Given the description of an element on the screen output the (x, y) to click on. 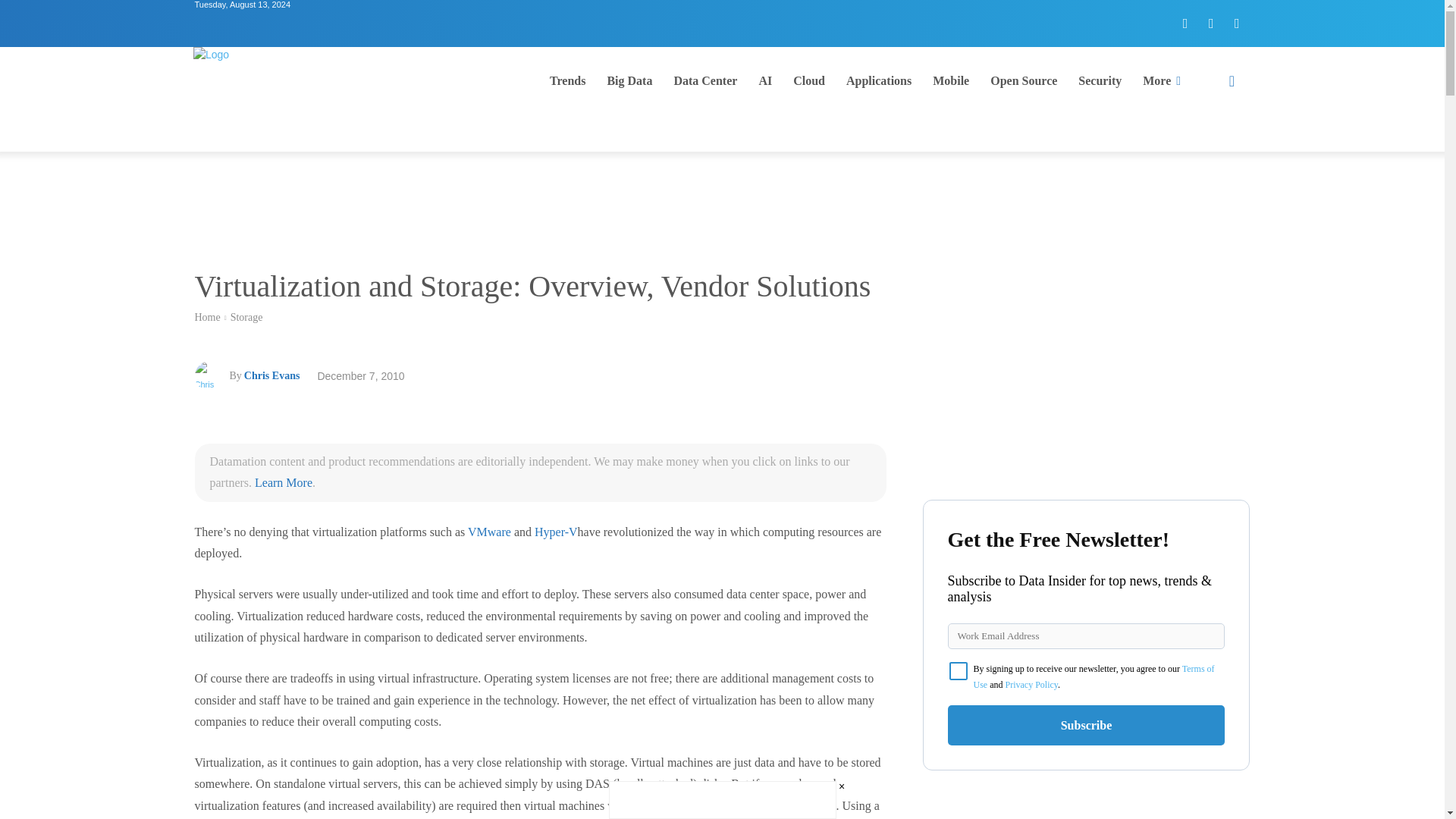
Security (1099, 81)
Open Source (1023, 81)
View all posts in Storage (246, 317)
Chris Evans (271, 375)
Storage (246, 317)
AI (765, 81)
Facebook (1185, 23)
on (958, 670)
Data Center (705, 81)
Applications (878, 81)
